Given the description of an element on the screen output the (x, y) to click on. 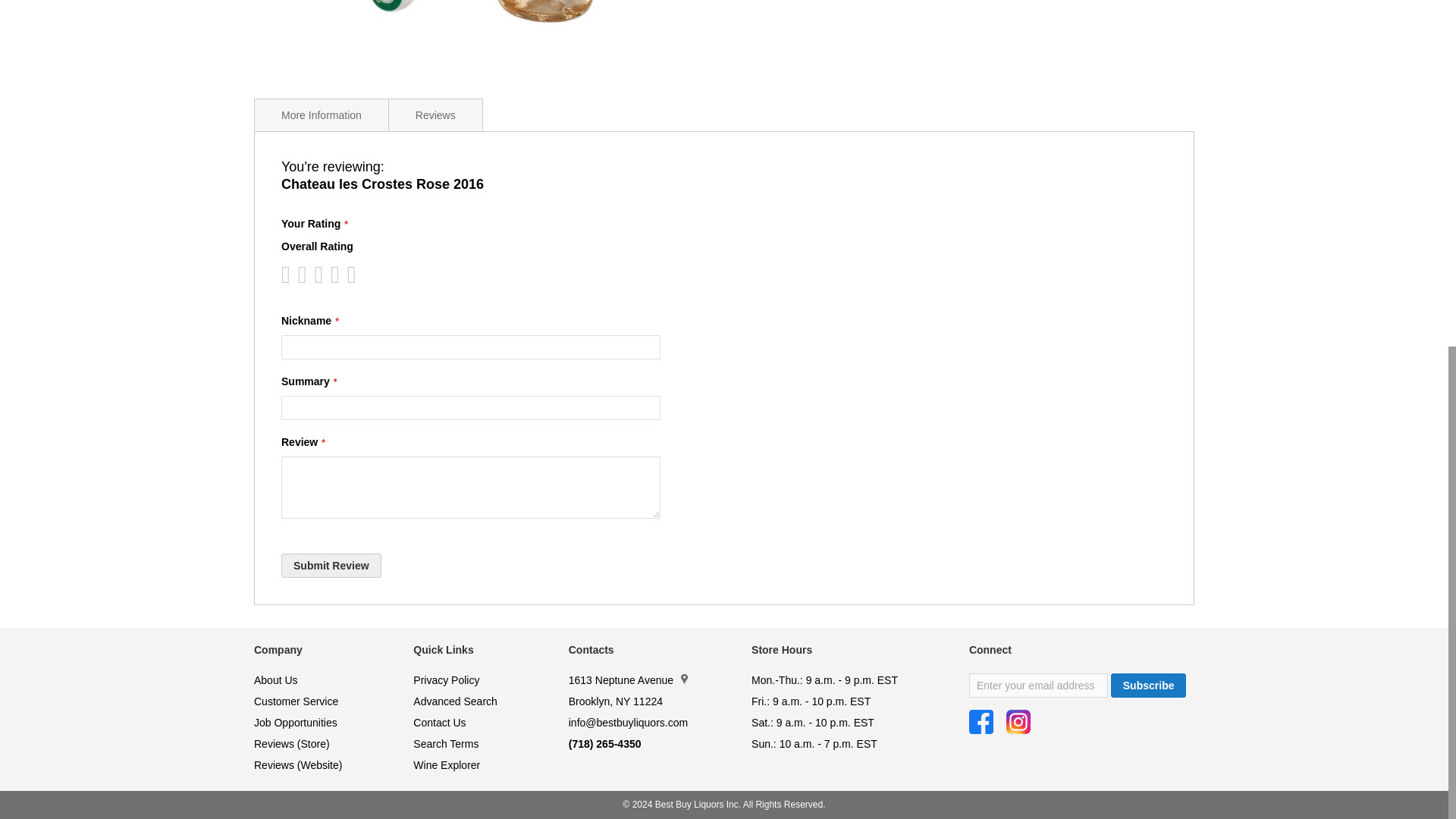
5 stars (321, 274)
2 stars (297, 274)
4 stars (314, 274)
3 stars (305, 274)
Best Buy Liquors on Facebook (980, 721)
Subscribe (1148, 685)
